Given the description of an element on the screen output the (x, y) to click on. 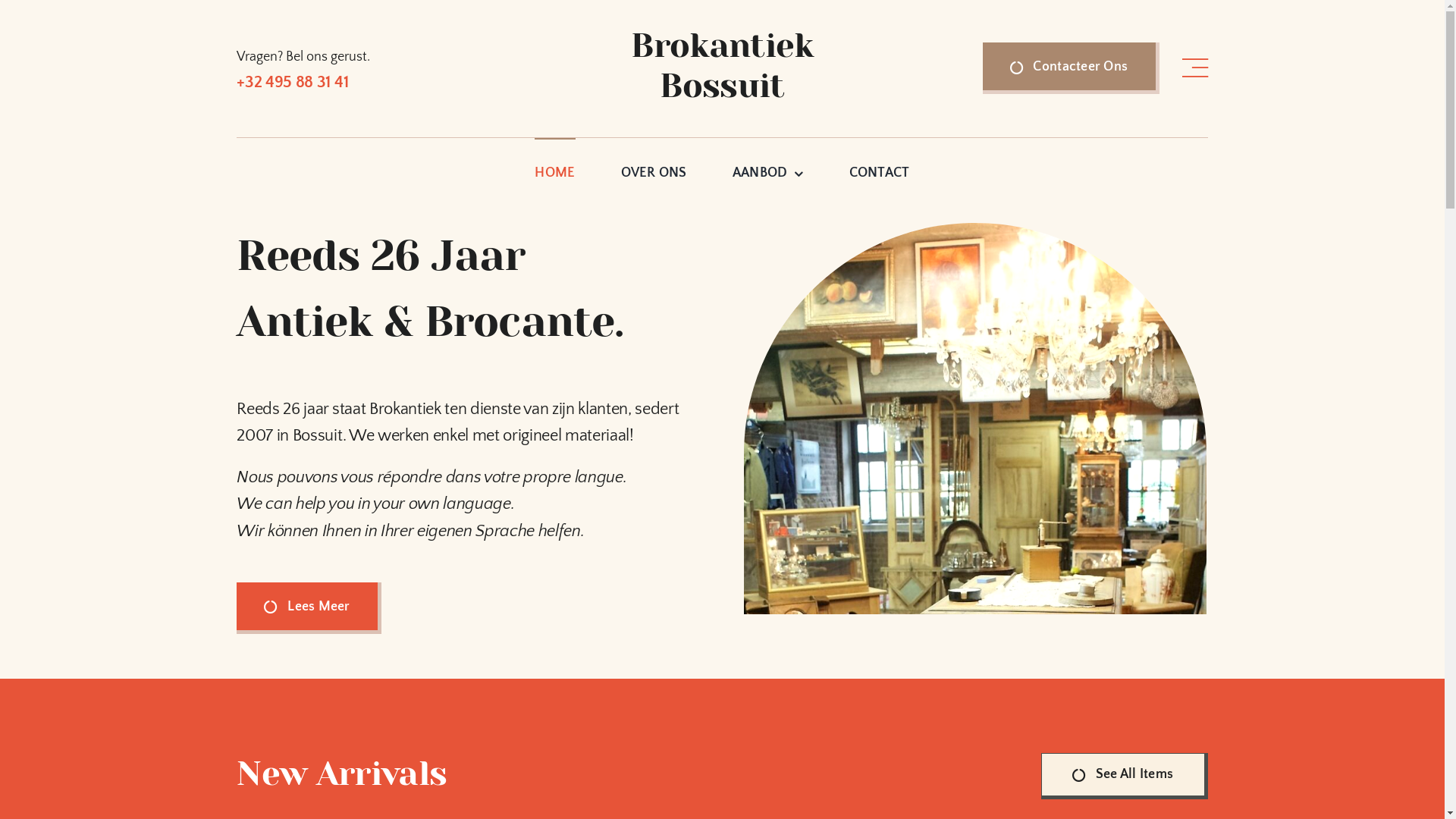
See All Items Element type: text (1124, 776)
Lees Meer Element type: text (308, 607)
HOME Element type: text (554, 165)
AANBOD Element type: text (767, 165)
Contacteer Ons Element type: text (1070, 68)
CONTACT Element type: text (879, 165)
OVER ONS Element type: text (654, 165)
Brokantiek Bossuyt Element type: hover (974, 418)
+32 495 88 31 41 Element type: text (292, 81)
